Given the description of an element on the screen output the (x, y) to click on. 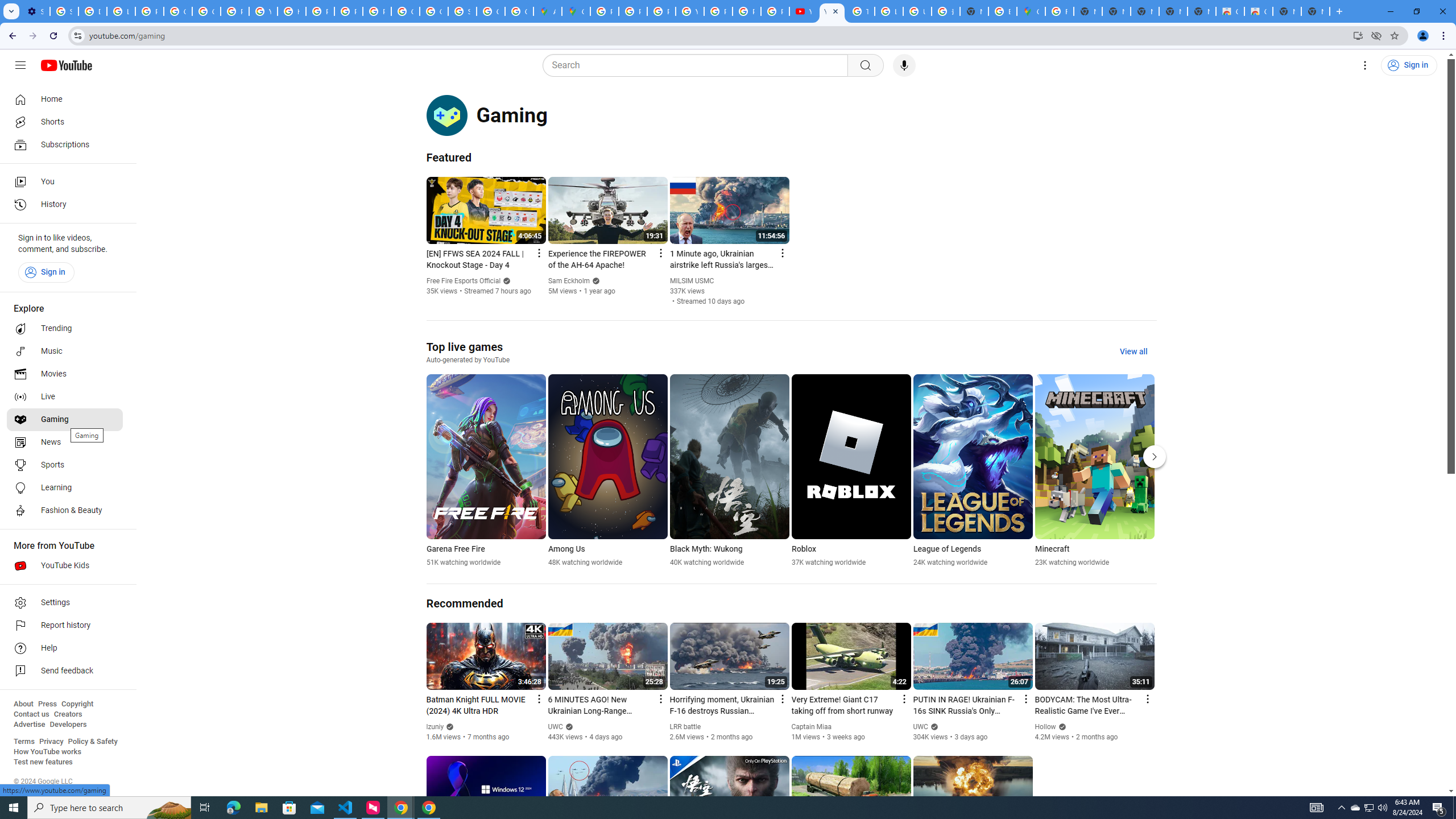
Privacy Help Center - Policies Help (632, 11)
